Given the description of an element on the screen output the (x, y) to click on. 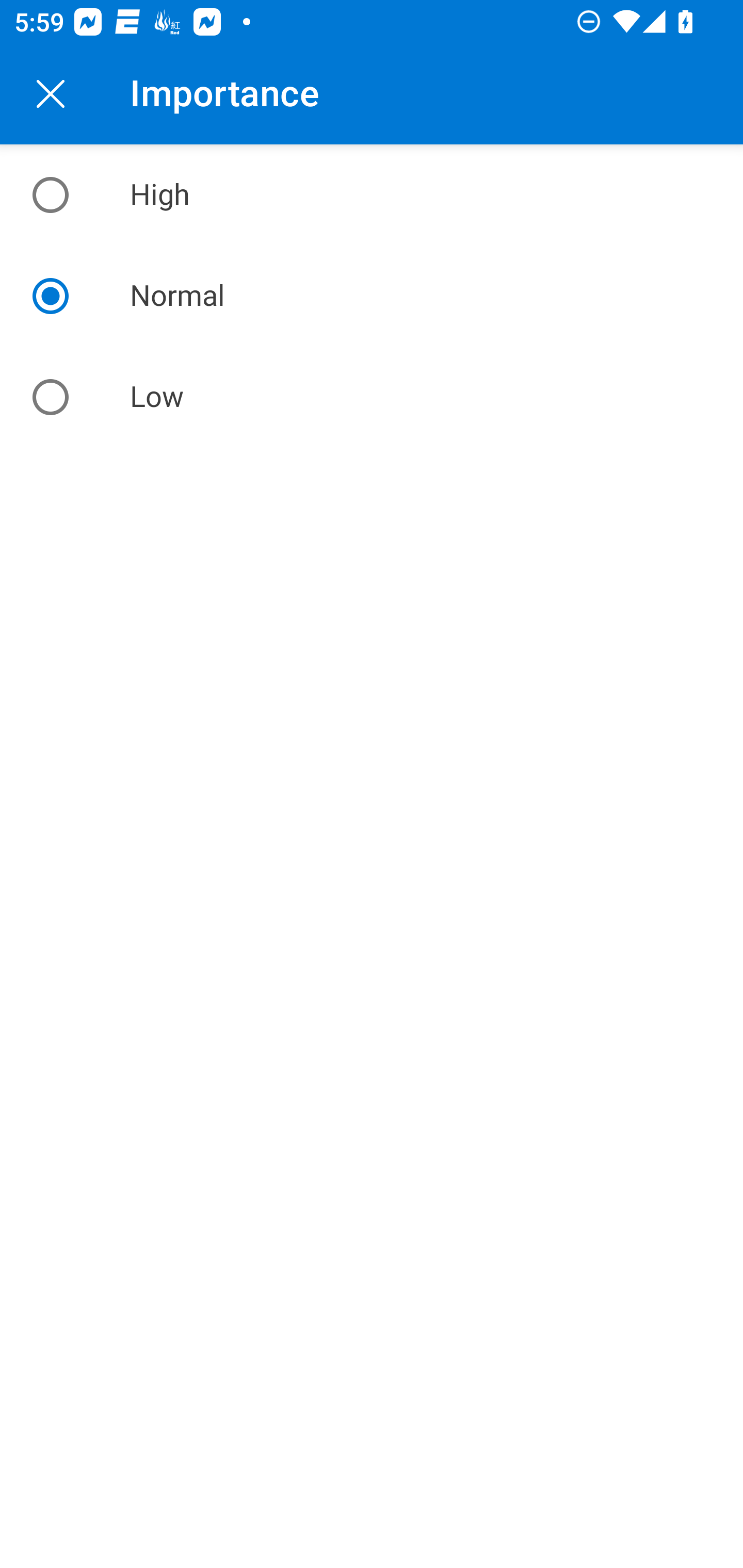
Back (50, 93)
High (371, 195)
Low (371, 397)
